Given the description of an element on the screen output the (x, y) to click on. 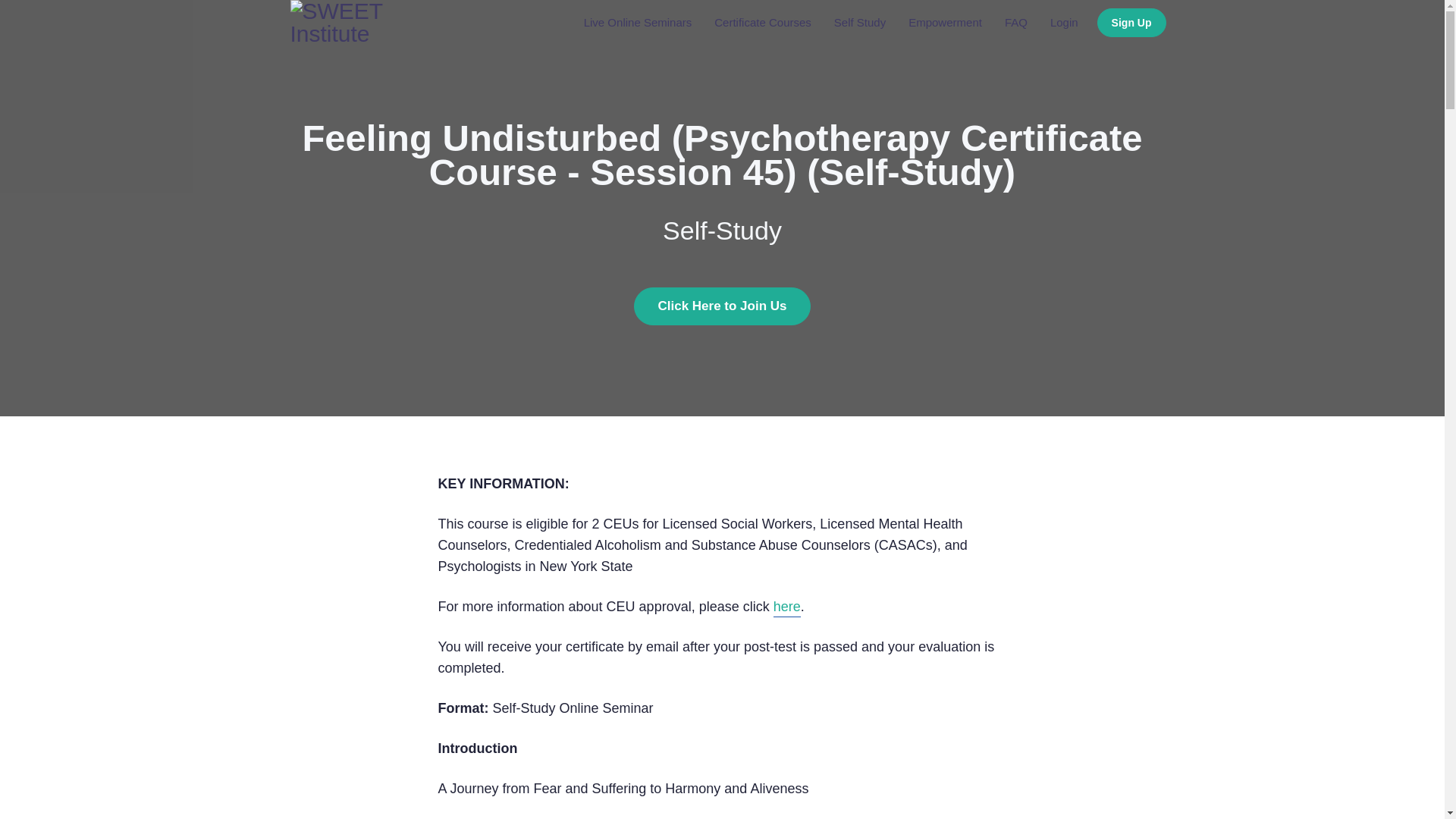
FAQ (1015, 22)
Self Study (859, 22)
Login (1064, 22)
Certificate Courses (762, 22)
here (786, 607)
Live Online Seminars (637, 22)
Empowerment (944, 22)
Click Here to Join Us (721, 306)
Sign Up (1131, 22)
